Given the description of an element on the screen output the (x, y) to click on. 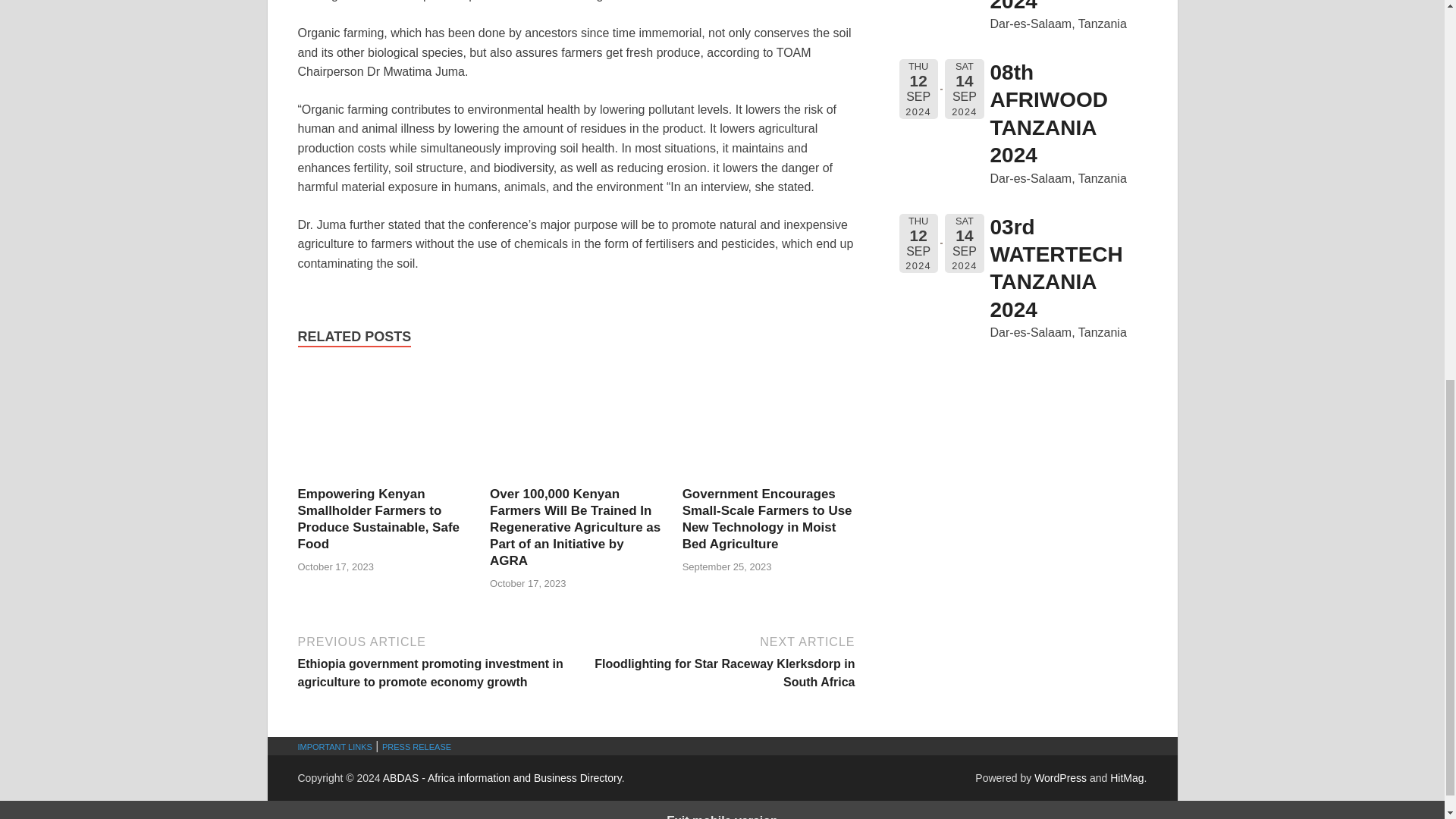
03rd WATERTECH TANZANIA 2024 (1056, 268)
ABDAS - Africa information and Business Directory (501, 777)
08th AFRIWOOD TANZANIA 2024 (1049, 113)
HitMag WordPress Theme (1125, 777)
IMPORTANT LINKS (334, 746)
ABDAS - Africa information and Business Directory (501, 777)
HitMag (1125, 777)
